Given the description of an element on the screen output the (x, y) to click on. 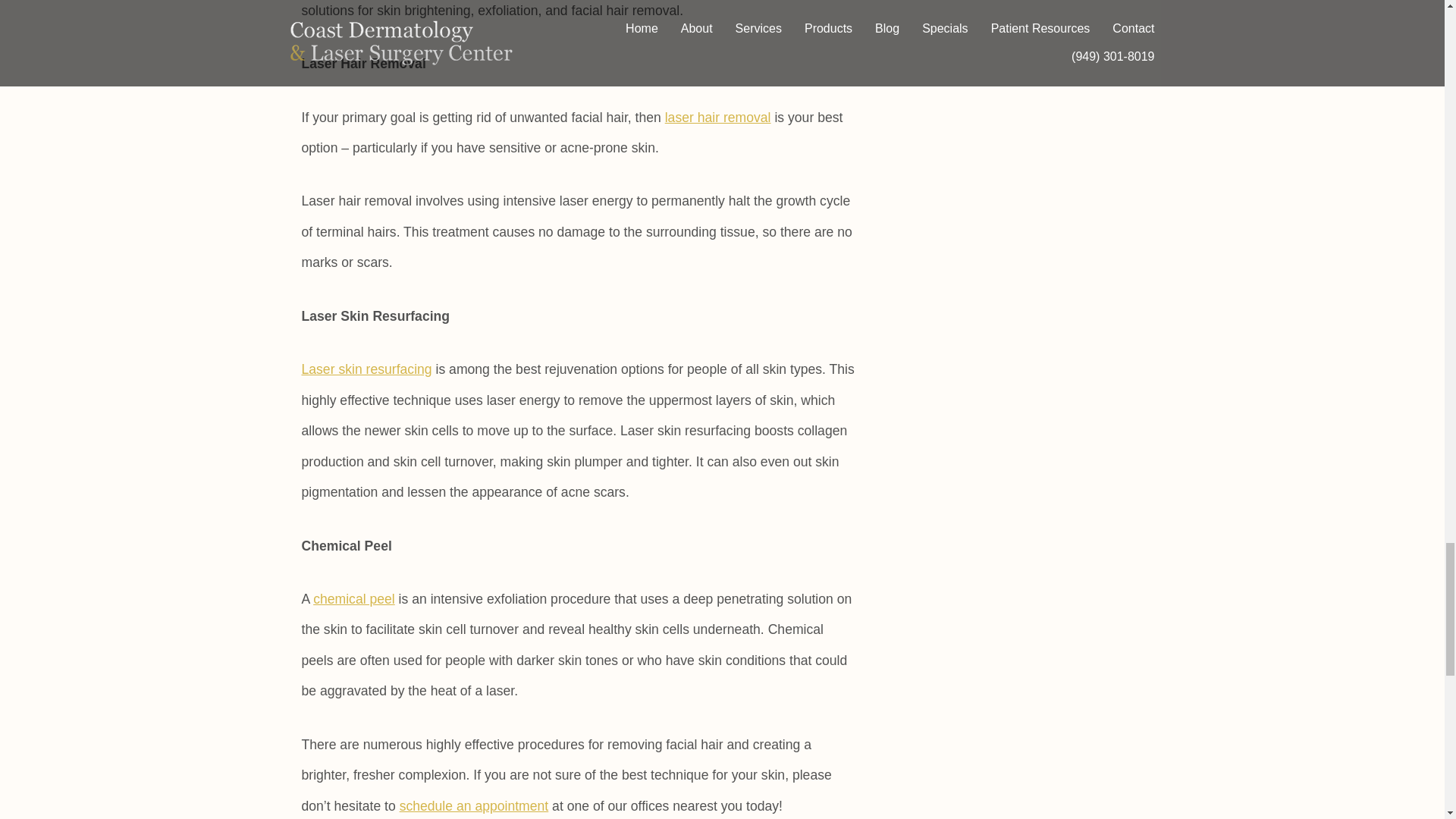
Laser skin resurfacing (366, 368)
chemical peel (353, 598)
laser hair removal (718, 117)
schedule an appointment (473, 806)
